Given the description of an element on the screen output the (x, y) to click on. 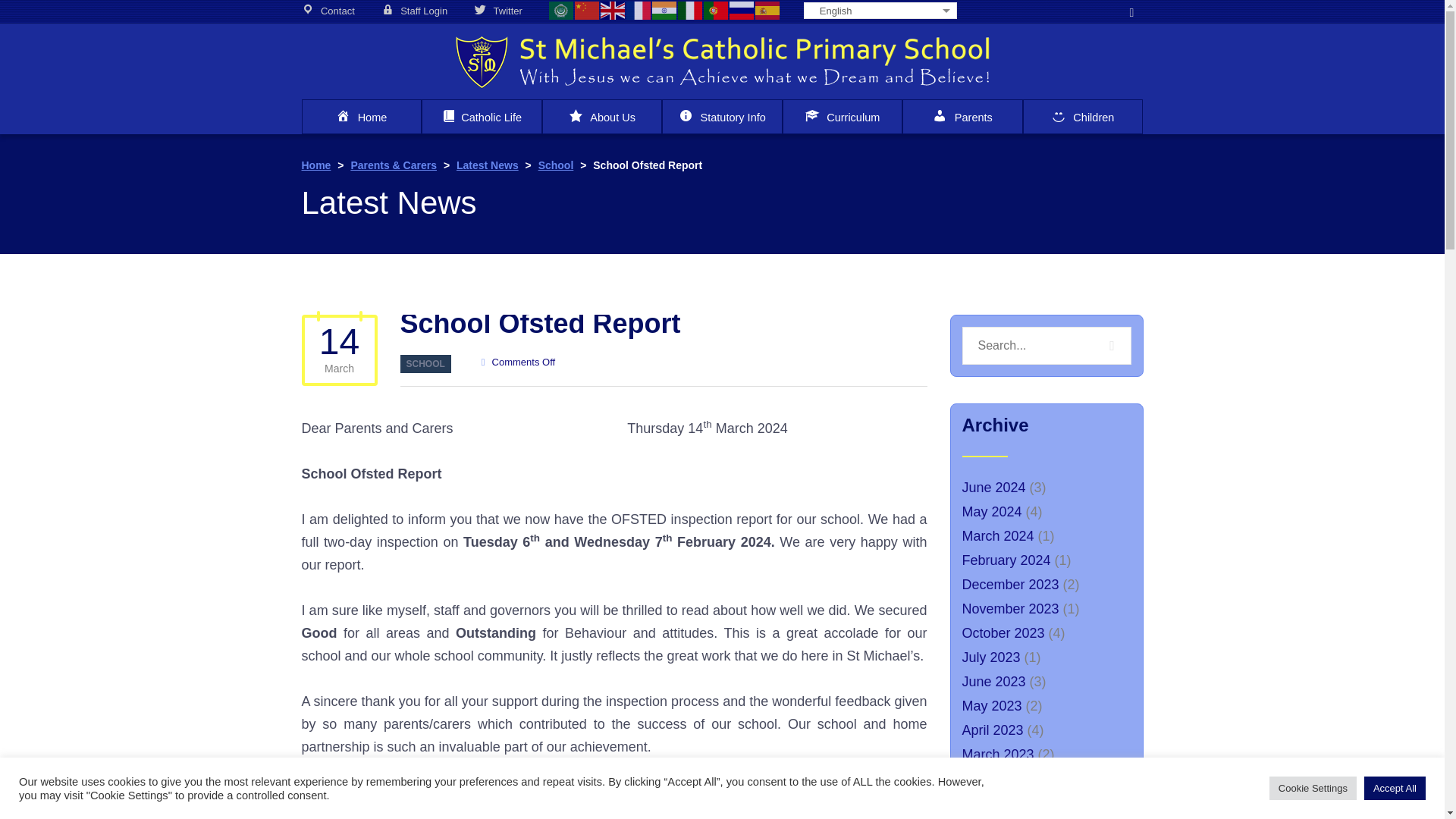
About Us (601, 116)
Go to St Michael's Catholic Primary School. (317, 164)
Spanish (767, 9)
Contact (328, 11)
French (639, 9)
St Michael's Catholic Primary School (721, 61)
Hindi (665, 9)
Russian (742, 9)
English (612, 9)
Twitter (498, 11)
Staff Login (413, 11)
English (880, 11)
Home (361, 116)
Statutory Info (722, 116)
Catholic Life (481, 116)
